Given the description of an element on the screen output the (x, y) to click on. 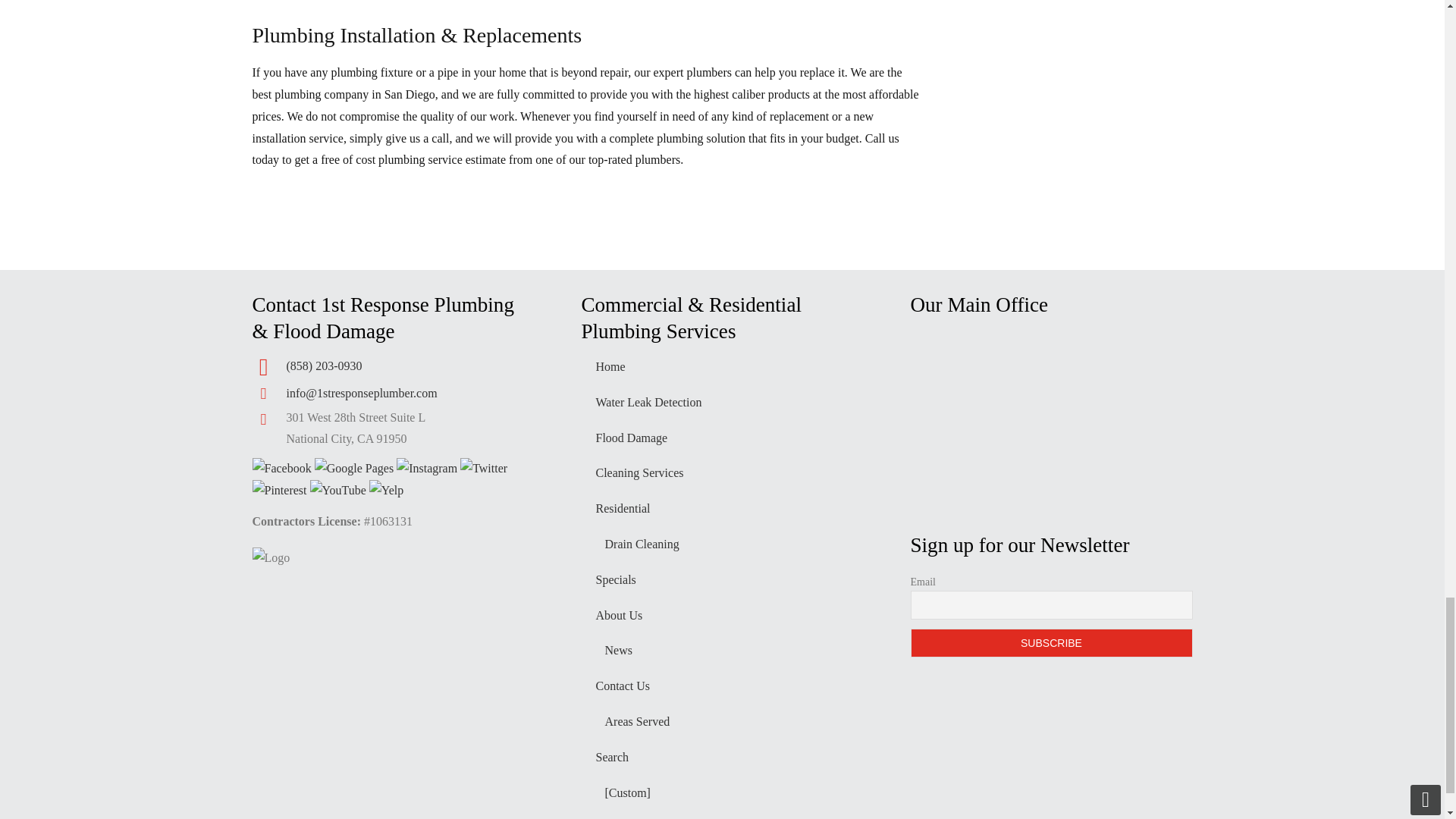
Subscribe (1051, 642)
